Given the description of an element on the screen output the (x, y) to click on. 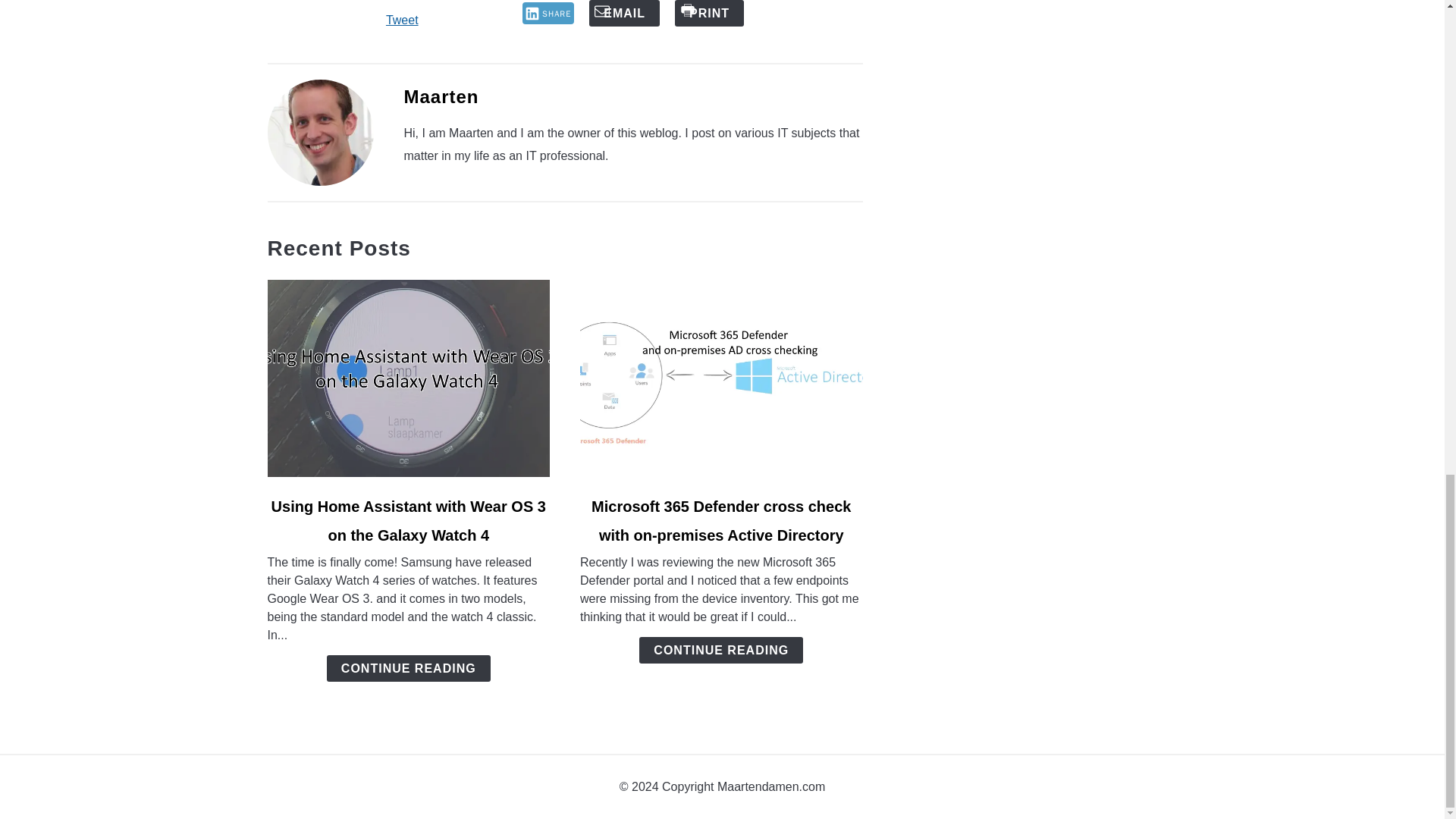
CONTINUE READING (721, 650)
CONTINUE READING (408, 668)
SHARE (548, 13)
EMAIL (624, 13)
Using Home Assistant with Wear OS 3 on the Galaxy Watch 4 (408, 520)
PRINT (709, 13)
Maarten (441, 96)
